Given the description of an element on the screen output the (x, y) to click on. 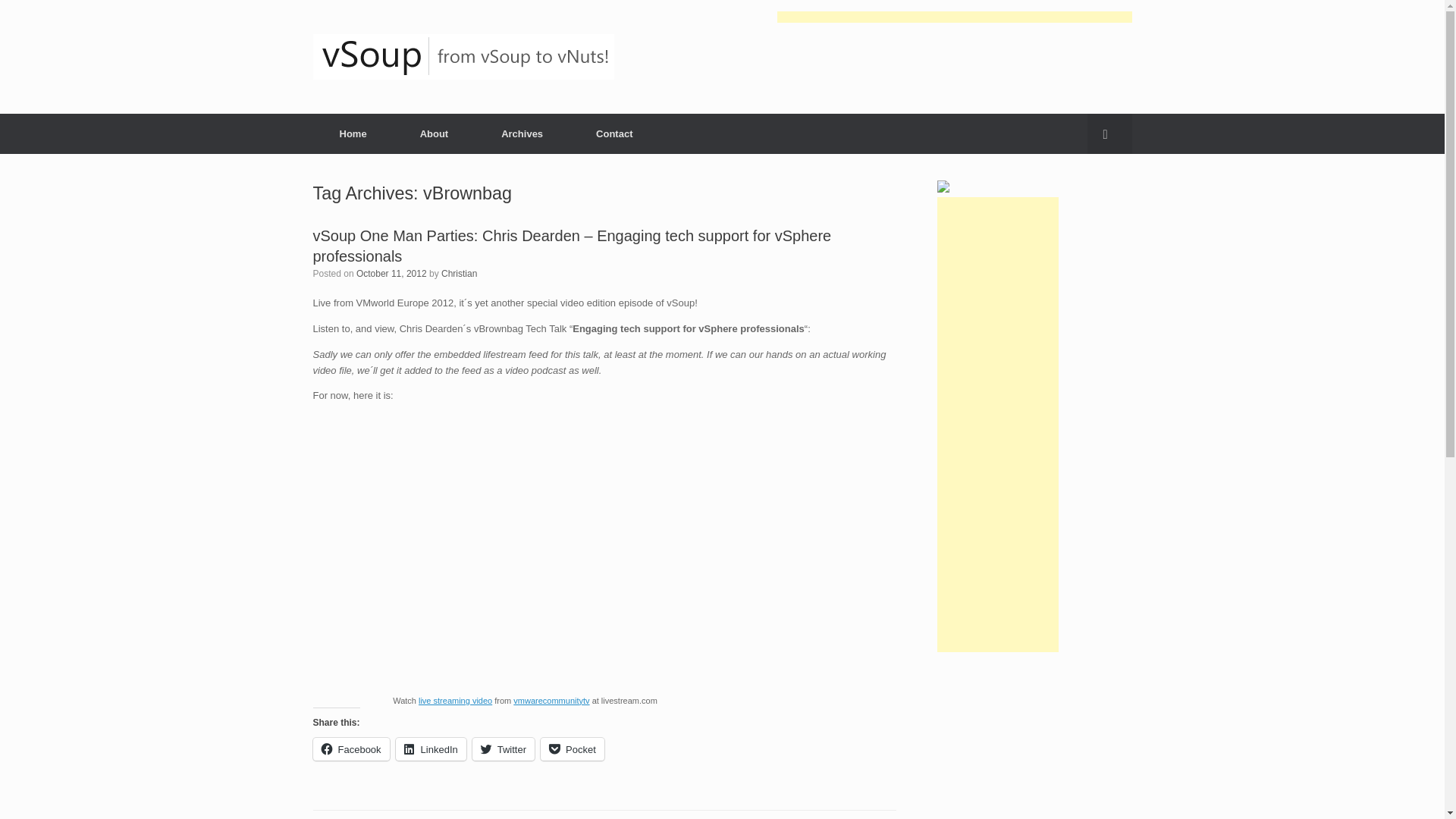
vmwarecommunitytv (551, 700)
Home (353, 133)
Click to share on LinkedIn (430, 748)
Twitter (502, 748)
7:15 pm (391, 273)
Click to share on Twitter (502, 748)
October 11, 2012 (391, 273)
LinkedIn (430, 748)
vSoup (462, 56)
Pocket (572, 748)
